Given the description of an element on the screen output the (x, y) to click on. 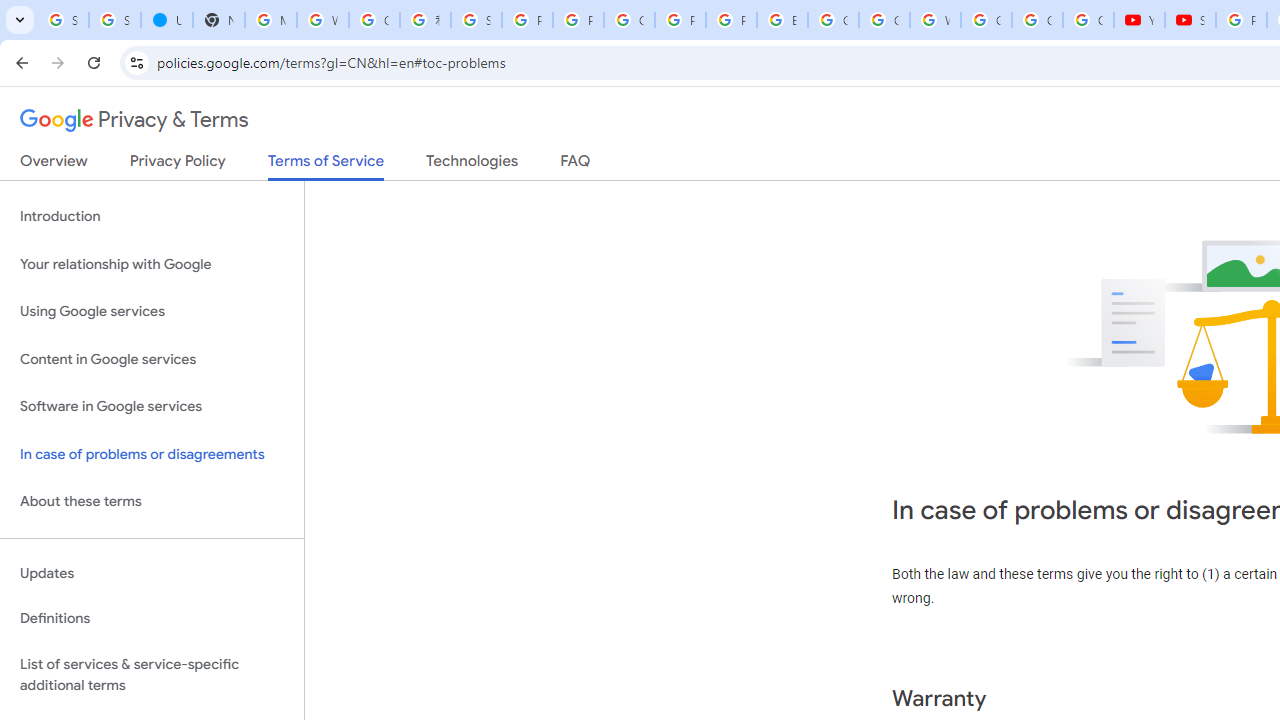
Updates (152, 573)
Sign in - Google Accounts (114, 20)
Privacy Policy (177, 165)
In case of problems or disagreements (152, 453)
Create your Google Account (374, 20)
Subscriptions - YouTube (1189, 20)
Software in Google services (152, 407)
List of services & service-specific additional terms (152, 674)
Welcome to My Activity (935, 20)
Your relationship with Google (152, 263)
